Given the description of an element on the screen output the (x, y) to click on. 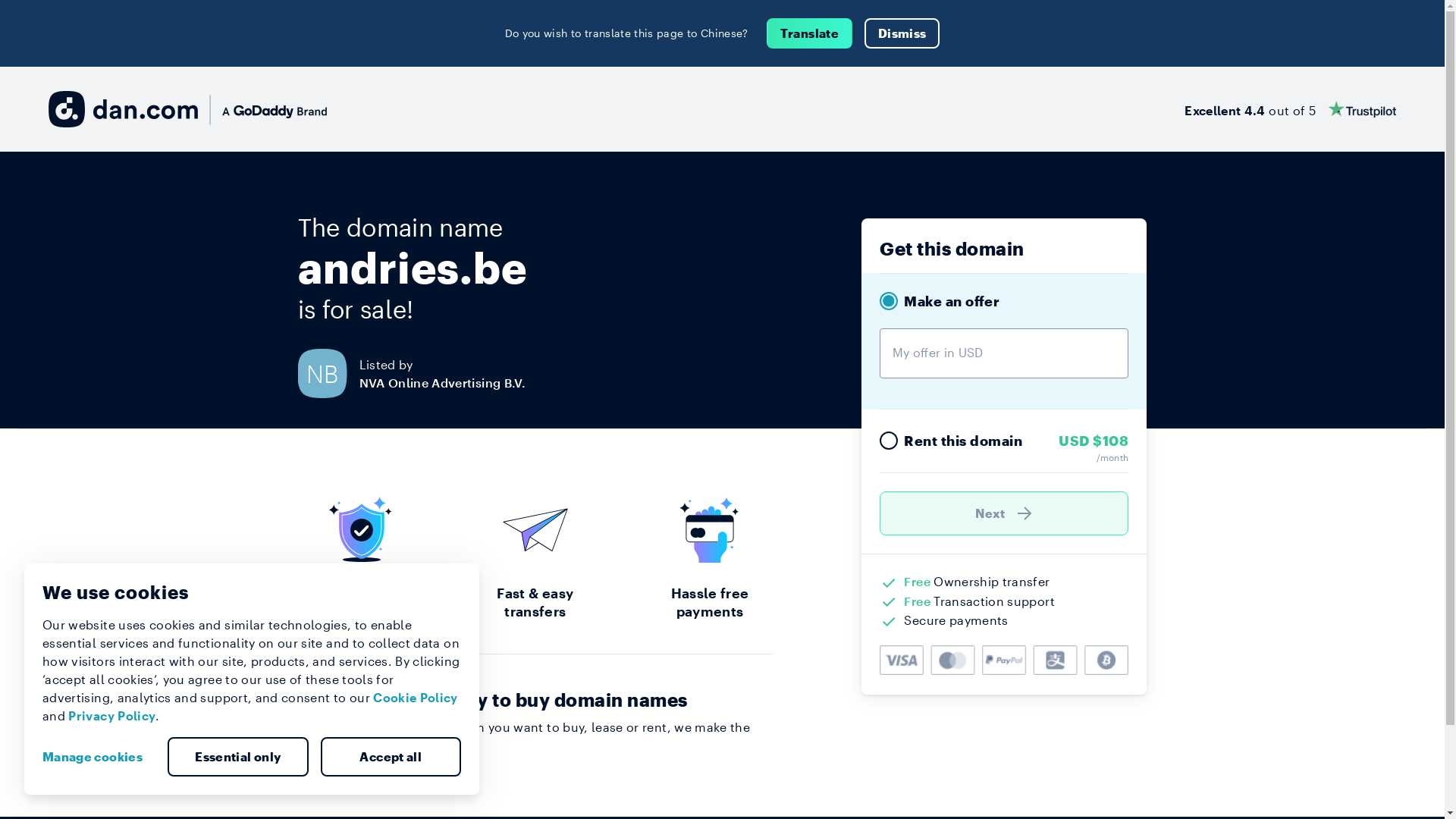
Accept all Element type: text (390, 756)
Privacy Policy Element type: text (111, 715)
Essential only Element type: text (237, 756)
Translate Element type: text (809, 33)
Next
) Element type: text (1003, 513)
Cookie Policy Element type: text (415, 697)
Dismiss Element type: text (901, 33)
Excellent 4.4 out of 5 Element type: text (1290, 109)
Manage cookies Element type: text (98, 756)
